Given the description of an element on the screen output the (x, y) to click on. 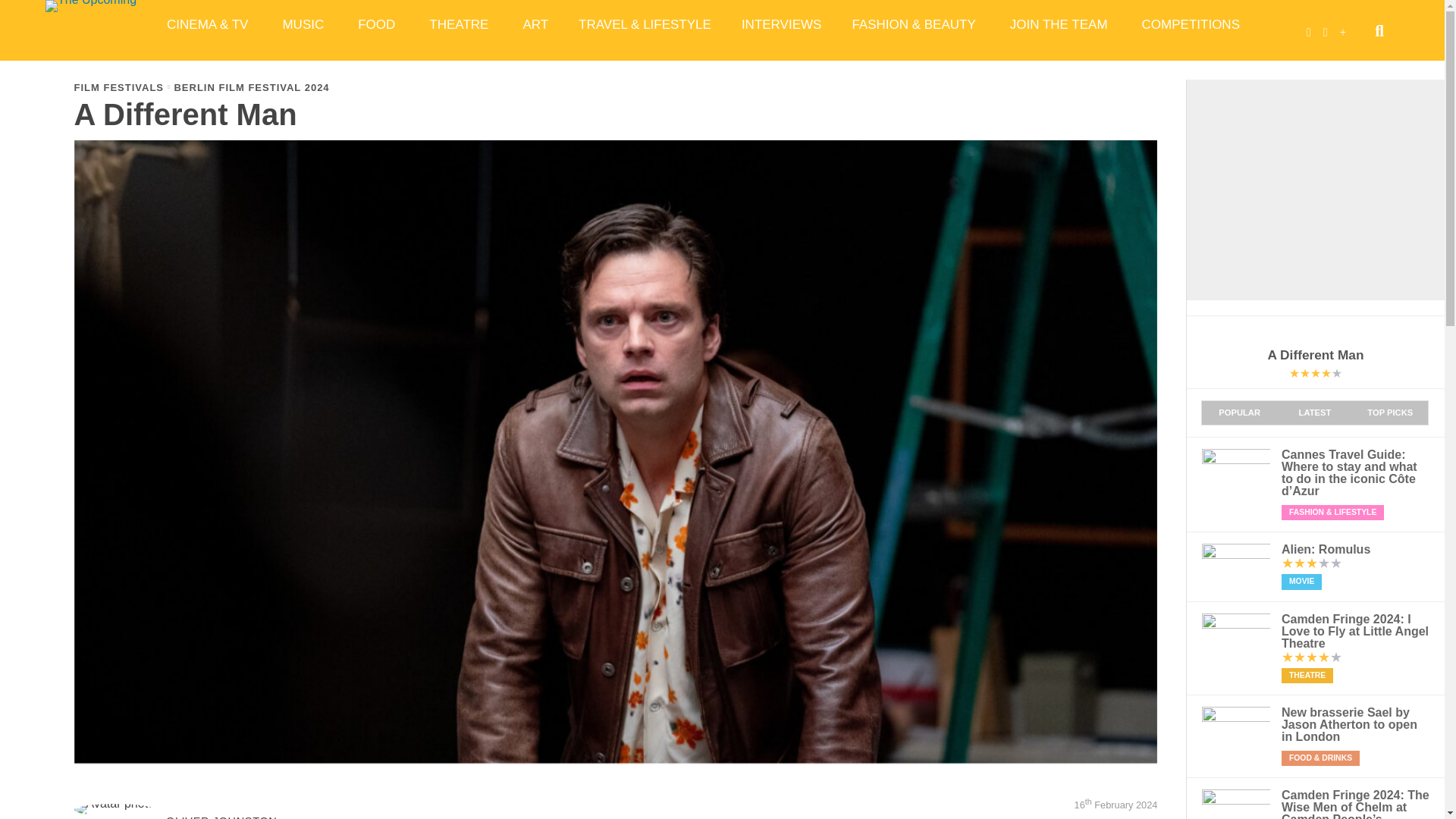
MUSIC (304, 24)
INTERVIEWS (780, 24)
JOIN THE TEAM (1060, 24)
ART (534, 24)
THEATRE (459, 24)
FOOD (377, 24)
